Given the description of an element on the screen output the (x, y) to click on. 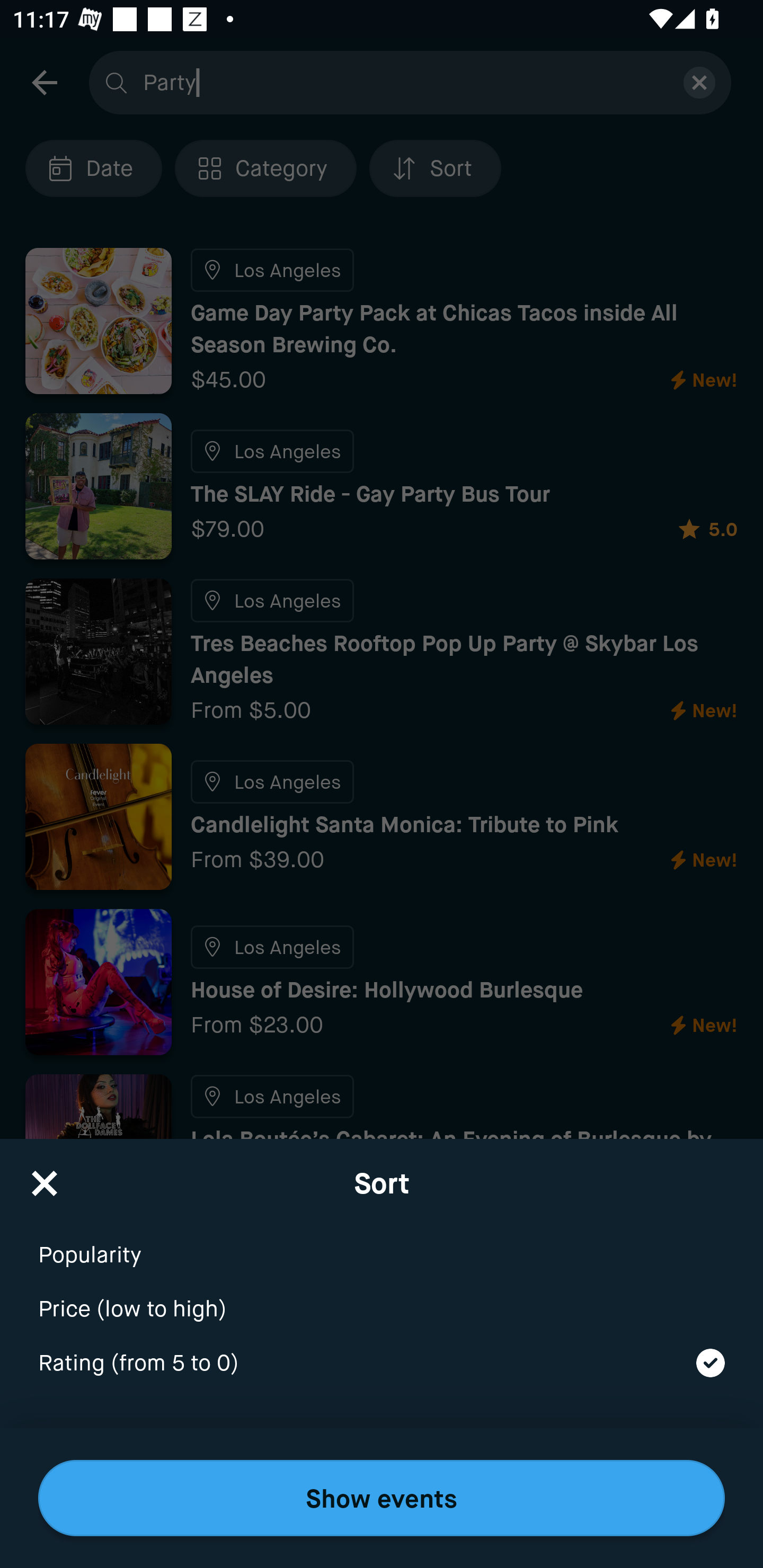
CloseButton (44, 1177)
Popularity (381, 1243)
Price (low to high) (381, 1297)
Rating (from 5 to 0) Selected Icon (381, 1362)
Show events (381, 1497)
